Given the description of an element on the screen output the (x, y) to click on. 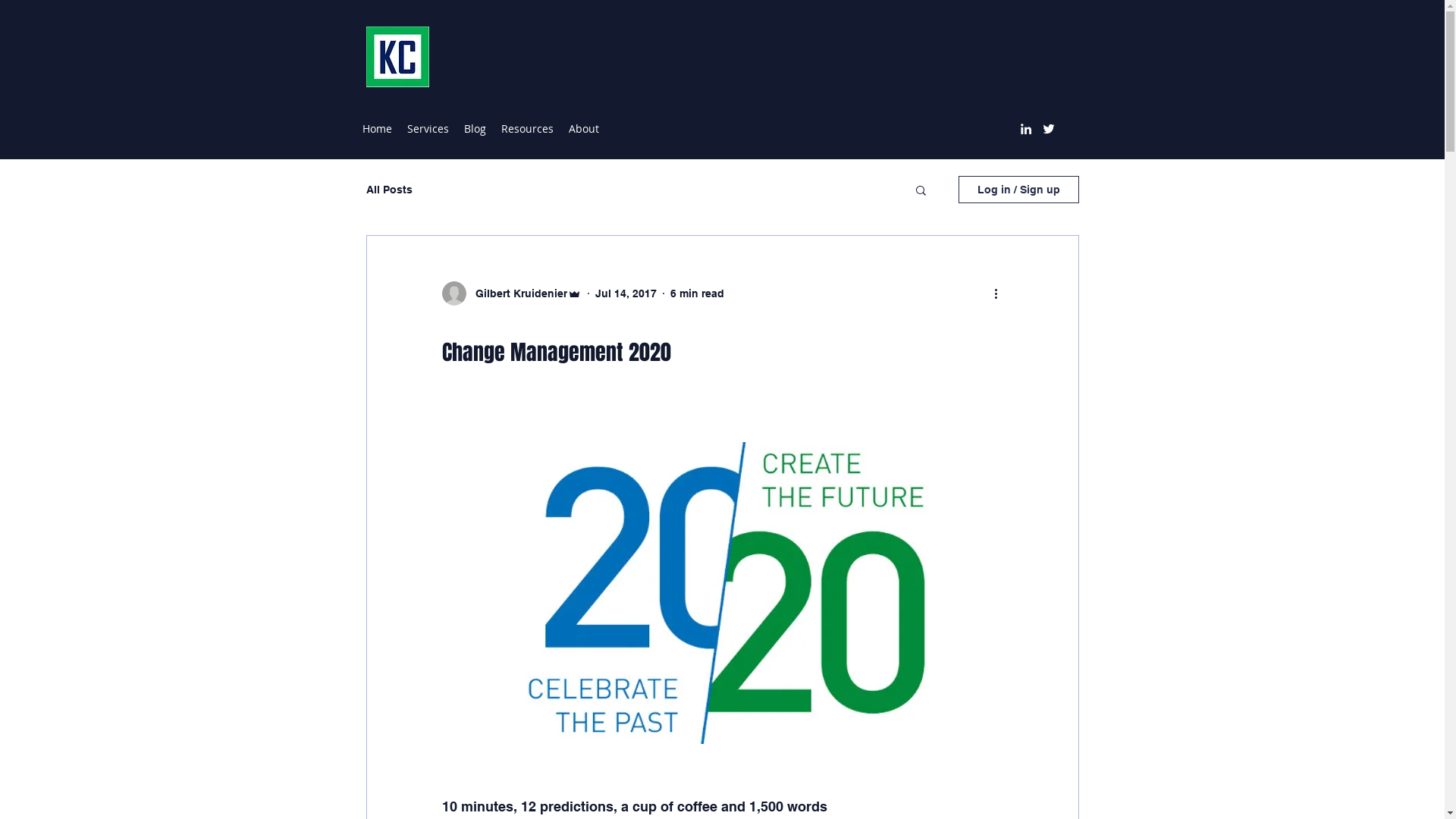
Blog Element type: text (474, 128)
Home Element type: text (376, 128)
About Element type: text (583, 128)
Resources Element type: text (526, 128)
All Posts Element type: text (388, 189)
Log in / Sign up Element type: text (1018, 189)
Services Element type: text (426, 128)
